Given the description of an element on the screen output the (x, y) to click on. 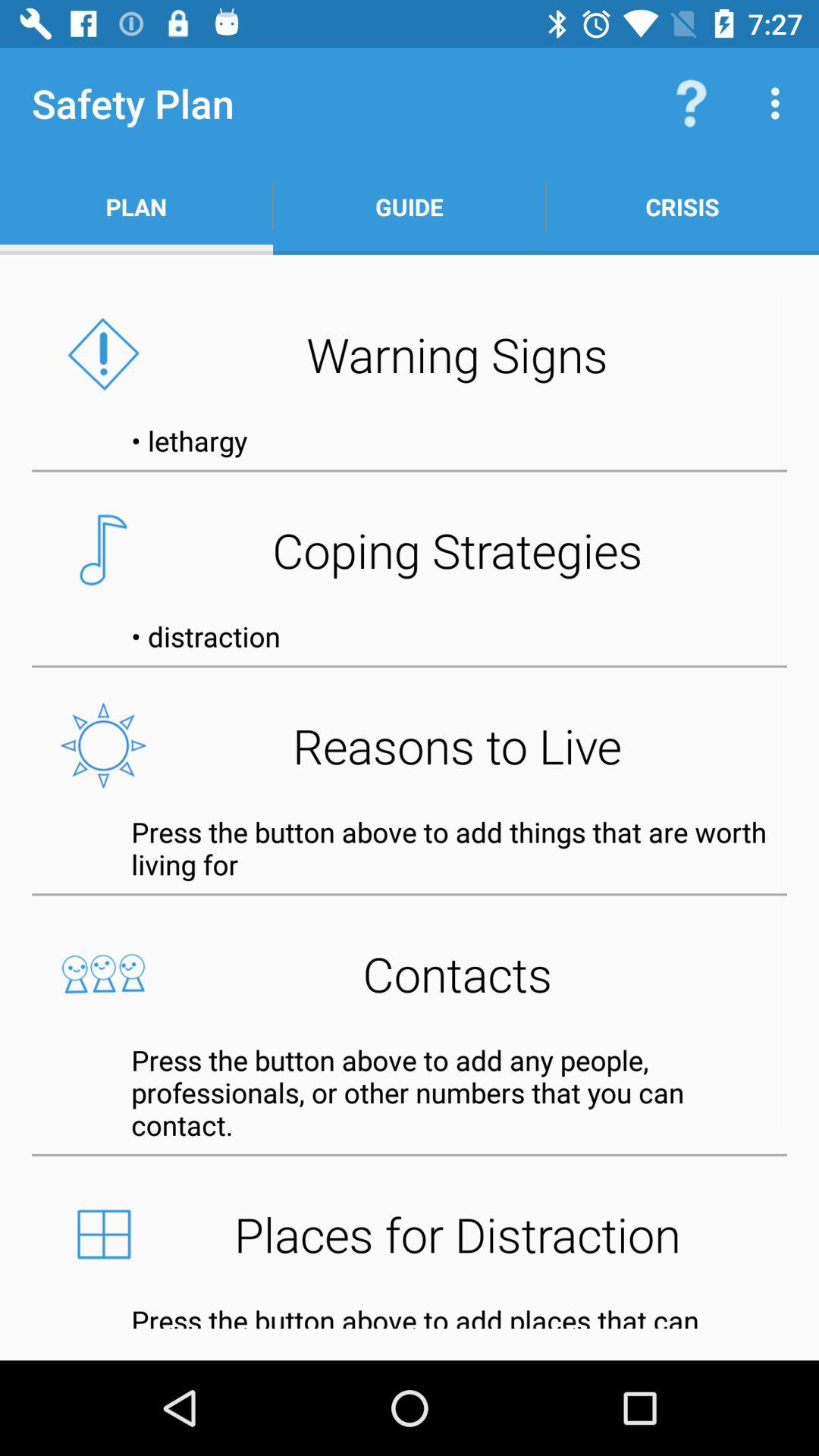
open the item below plan icon (409, 354)
